Given the description of an element on the screen output the (x, y) to click on. 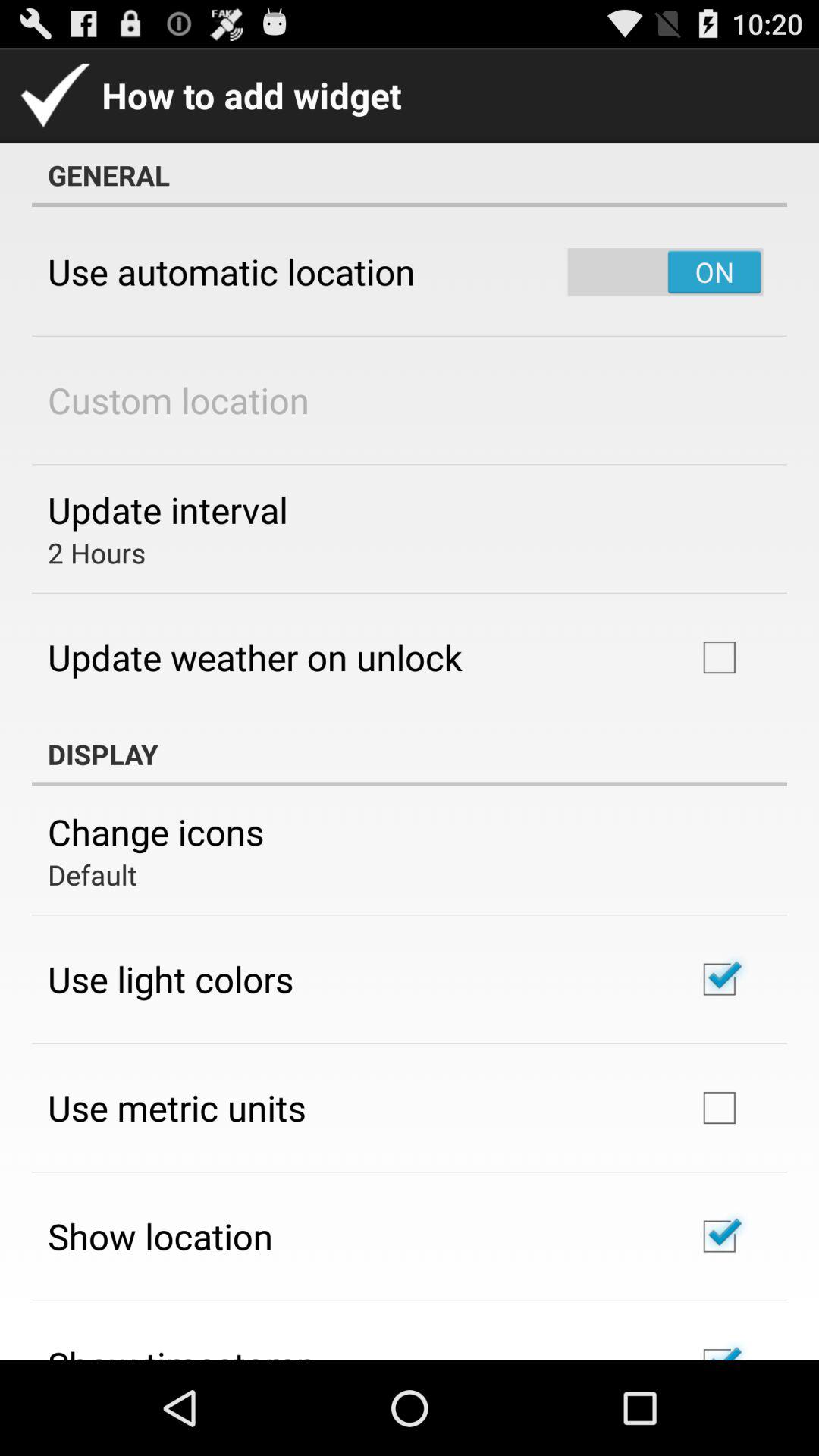
tap icon above update interval (178, 399)
